Given the description of an element on the screen output the (x, y) to click on. 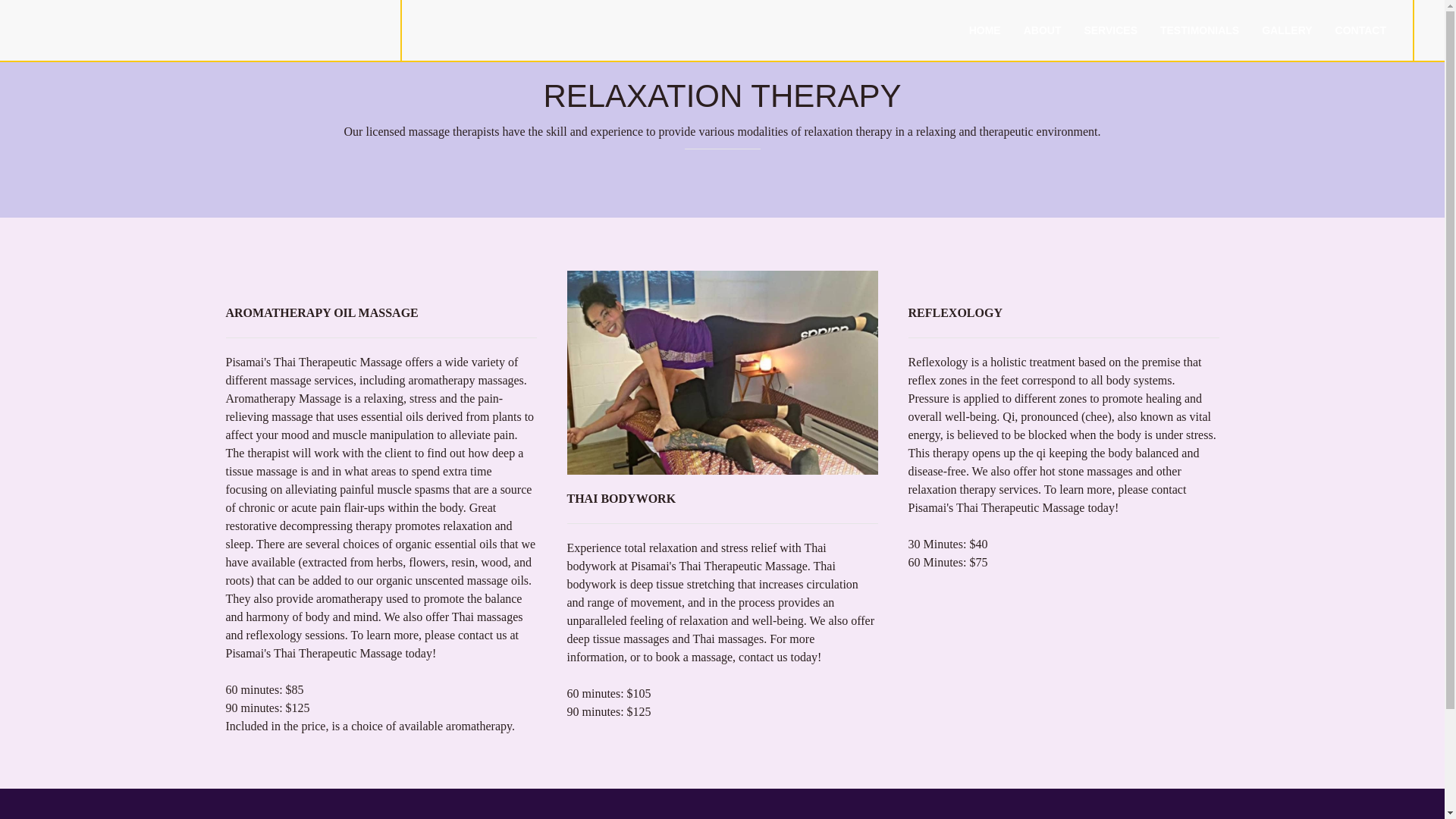
TESTIMONIALS (1199, 30)
HOME (984, 30)
ABOUT (1042, 30)
SERVICES (1109, 30)
GALLERY (1286, 30)
CONTACT (1360, 30)
